Given the description of an element on the screen output the (x, y) to click on. 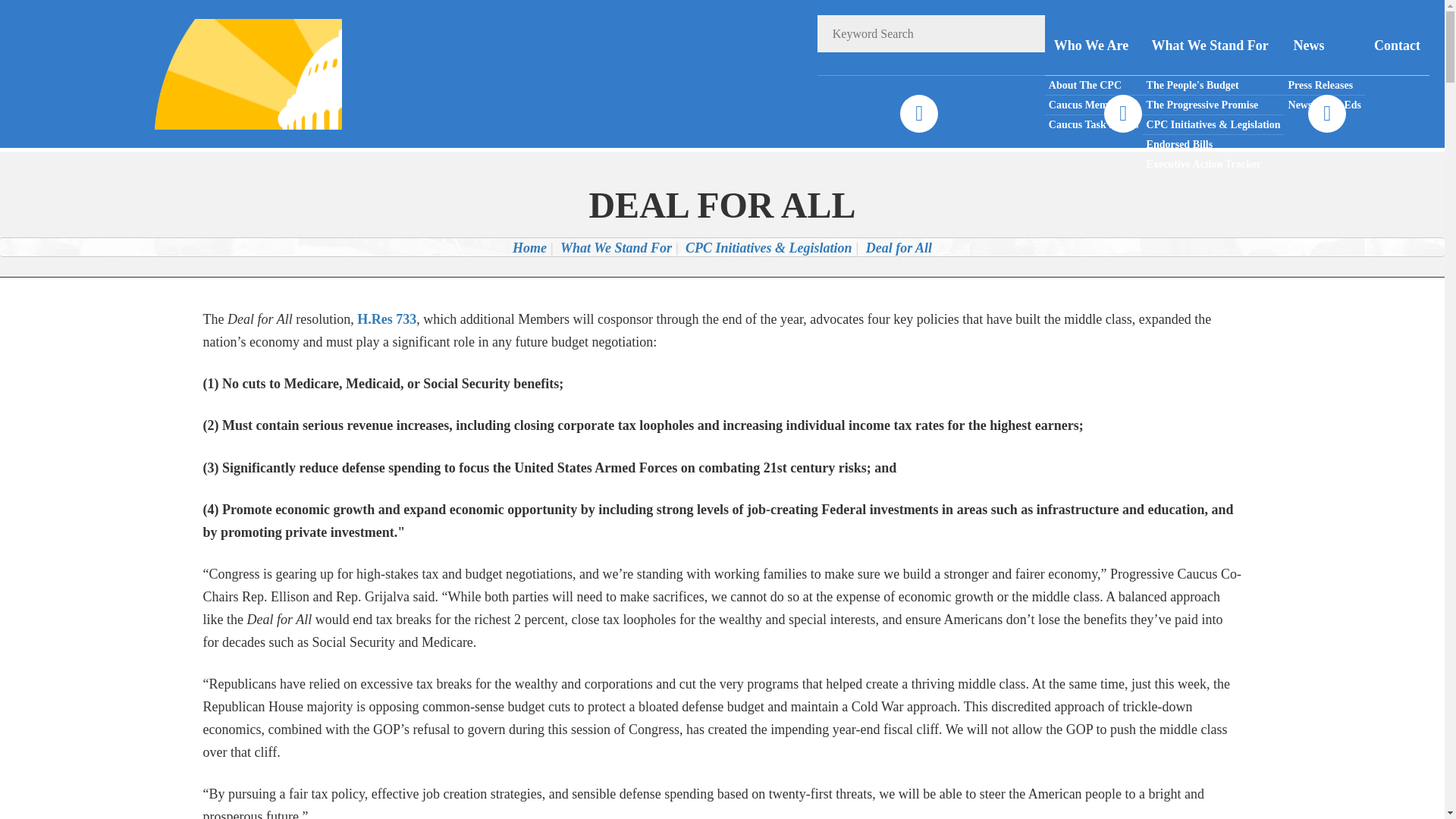
What We Stand For (1213, 45)
Who We Are (1093, 45)
Caucus Task Forces (1093, 124)
Caucus Members (1093, 105)
What We Stand For (615, 247)
Executive Action Tracker (1213, 163)
News (1324, 45)
The Progressive Promise (1213, 105)
Deal for All (898, 247)
DEAL FOR ALL (722, 205)
